Given the description of an element on the screen output the (x, y) to click on. 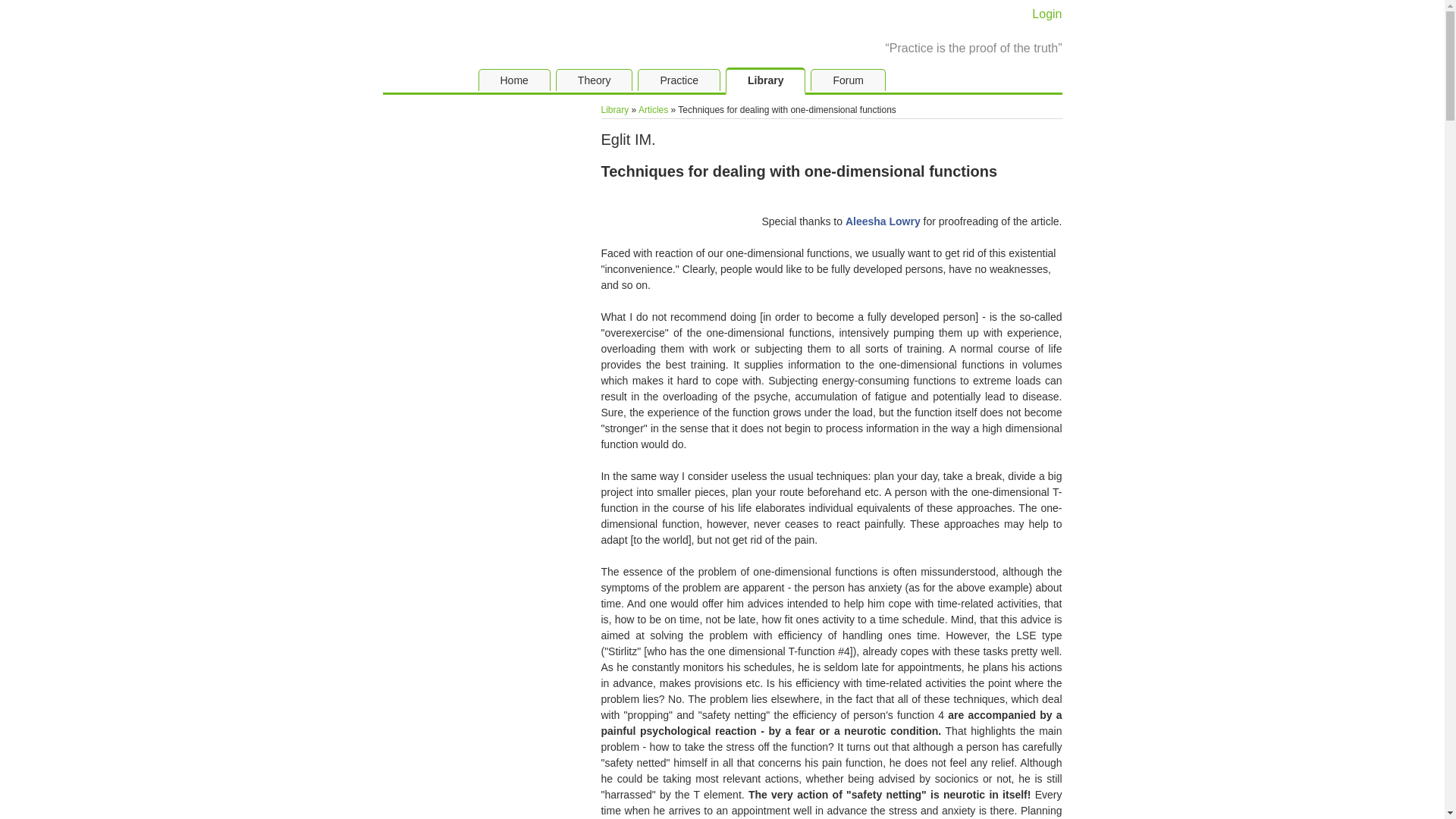
Home (513, 79)
Articles (653, 109)
Library (613, 109)
Theory (594, 79)
